Given the description of an element on the screen output the (x, y) to click on. 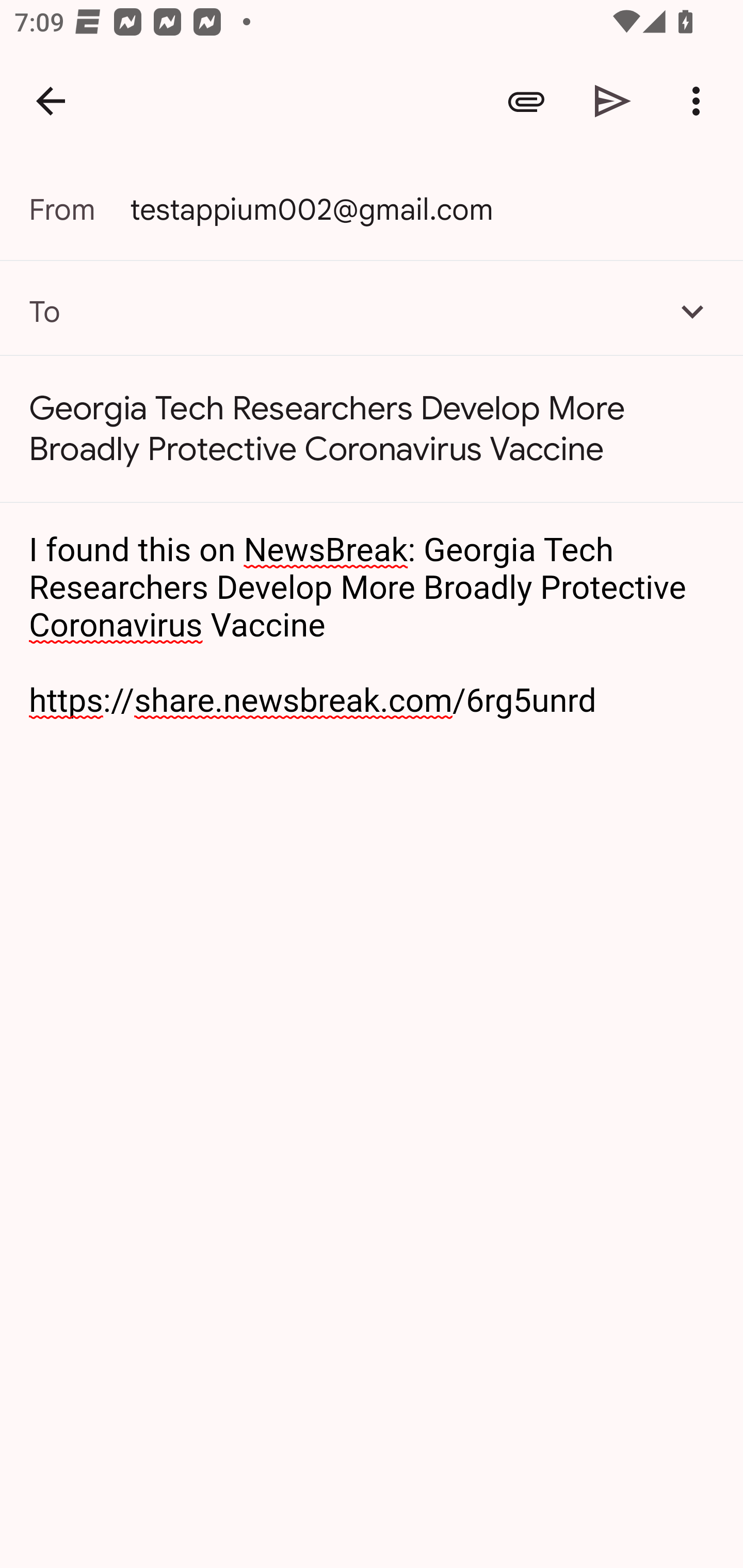
Navigate up (50, 101)
Attach file (525, 101)
Send (612, 101)
More options (699, 101)
From (79, 209)
Add Cc/Bcc (692, 311)
